Given the description of an element on the screen output the (x, y) to click on. 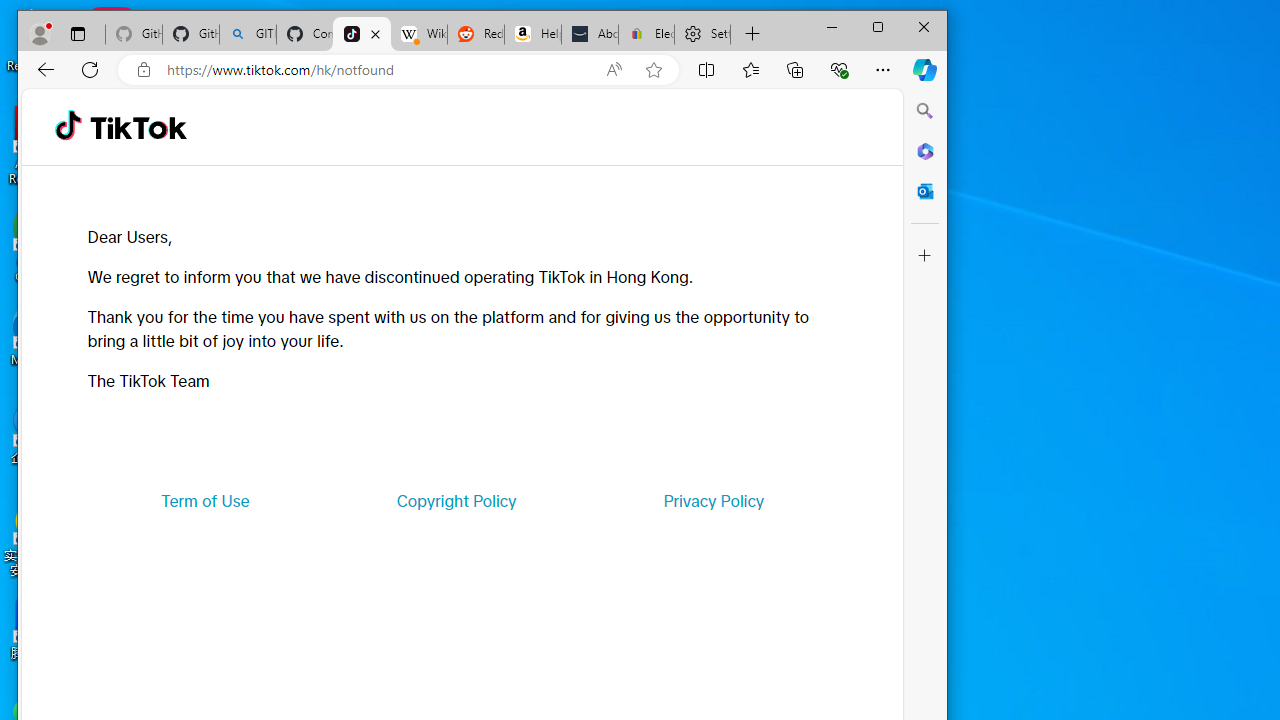
Term of Use (205, 500)
GITHUB - Search (248, 34)
Privacy Policy (713, 500)
